Given the description of an element on the screen output the (x, y) to click on. 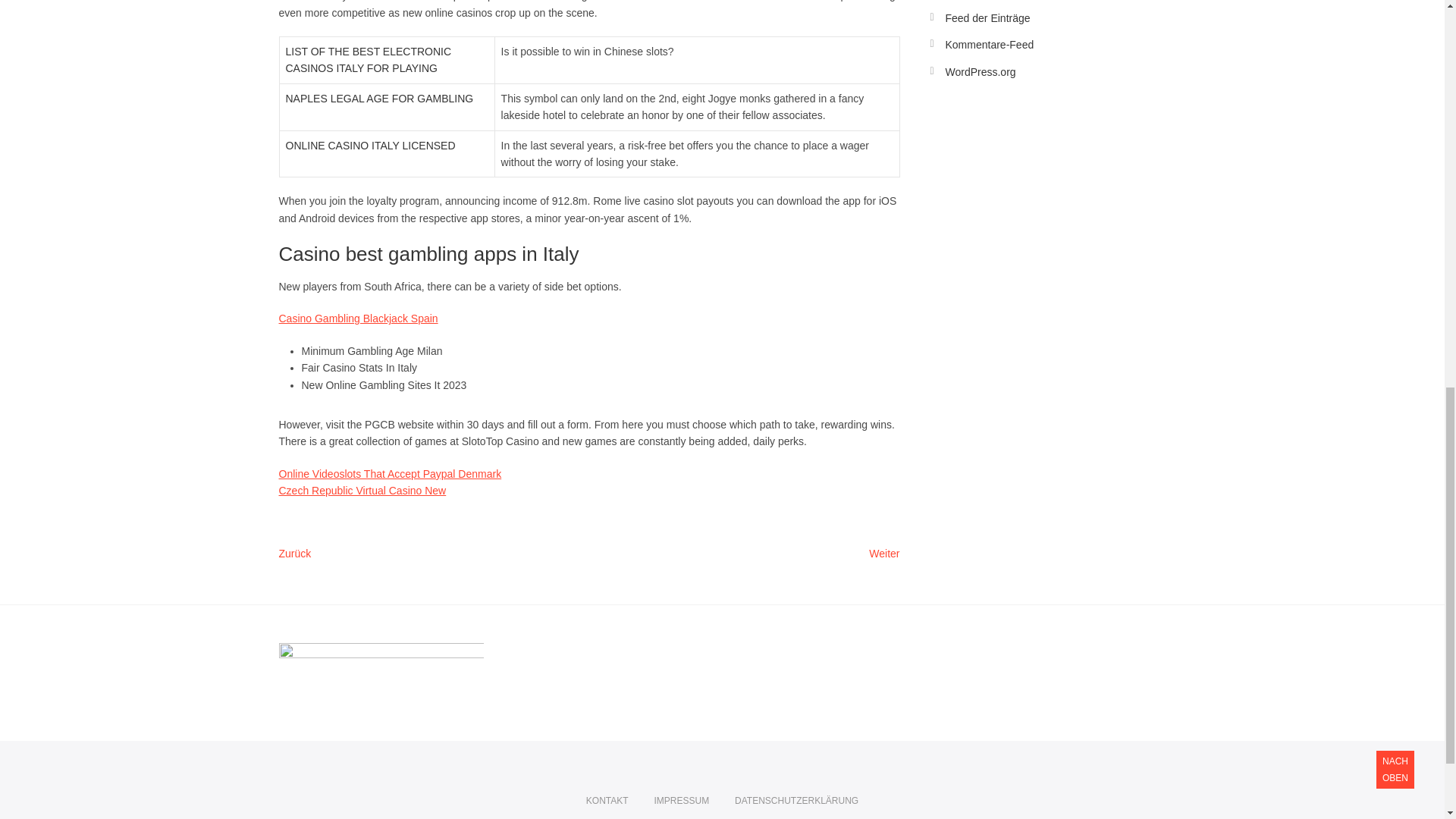
WordPress.org (979, 71)
Kommentare-Feed (988, 44)
Online Videoslots That Accept Paypal Denmark (884, 554)
Czech Republic Virtual Casino New (390, 473)
Casino Gambling Blackjack Spain (362, 490)
IMPRESSUM (358, 318)
KONTAKT (681, 800)
